Given the description of an element on the screen output the (x, y) to click on. 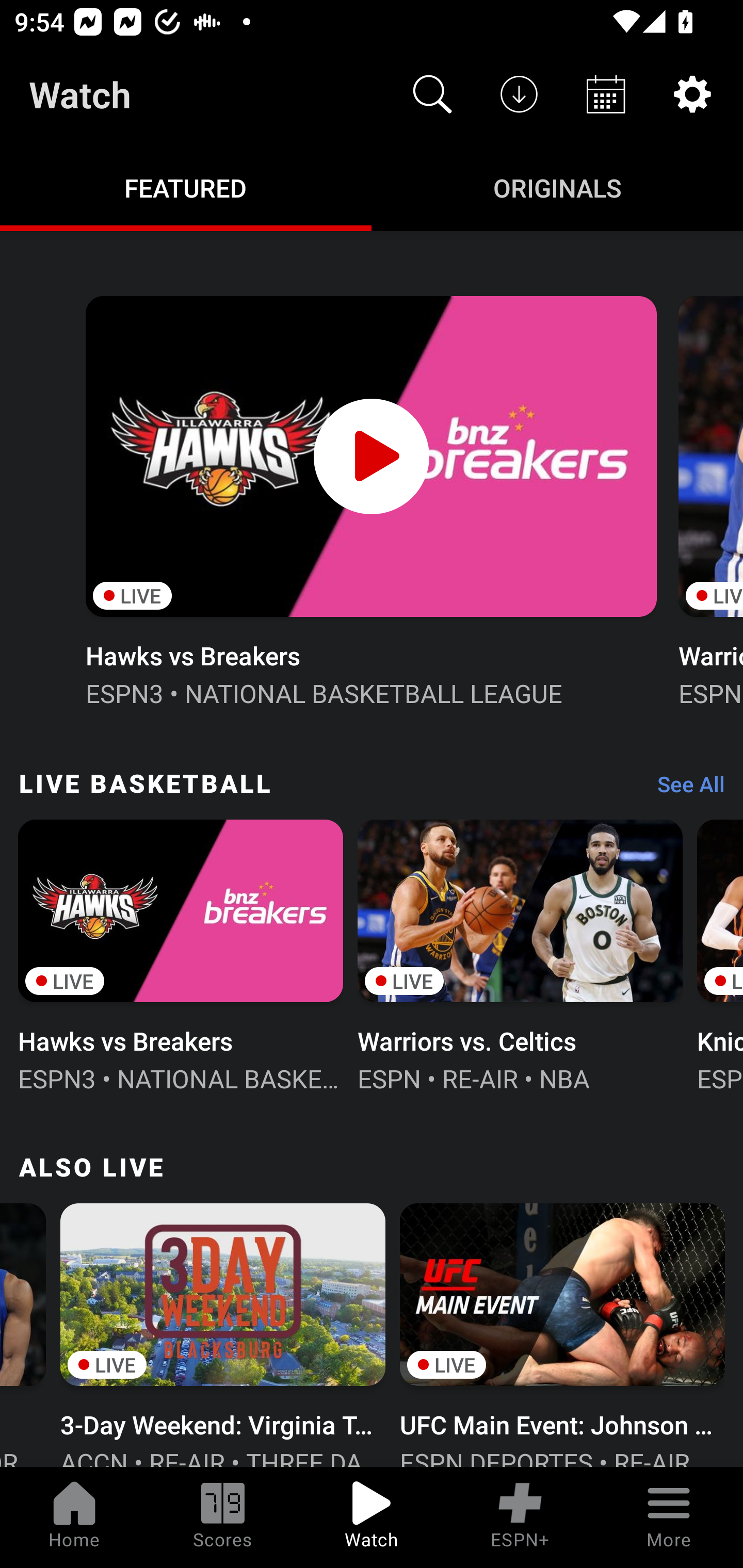
Search (432, 93)
Downloads (518, 93)
Schedule (605, 93)
Settings (692, 93)
Originals ORIGINALS (557, 187)
See All (683, 788)
LIVE Warriors vs. Celtics ESPN • RE-AIR • NBA (519, 954)
Home (74, 1517)
Scores (222, 1517)
ESPN+ (519, 1517)
More (668, 1517)
